Given the description of an element on the screen output the (x, y) to click on. 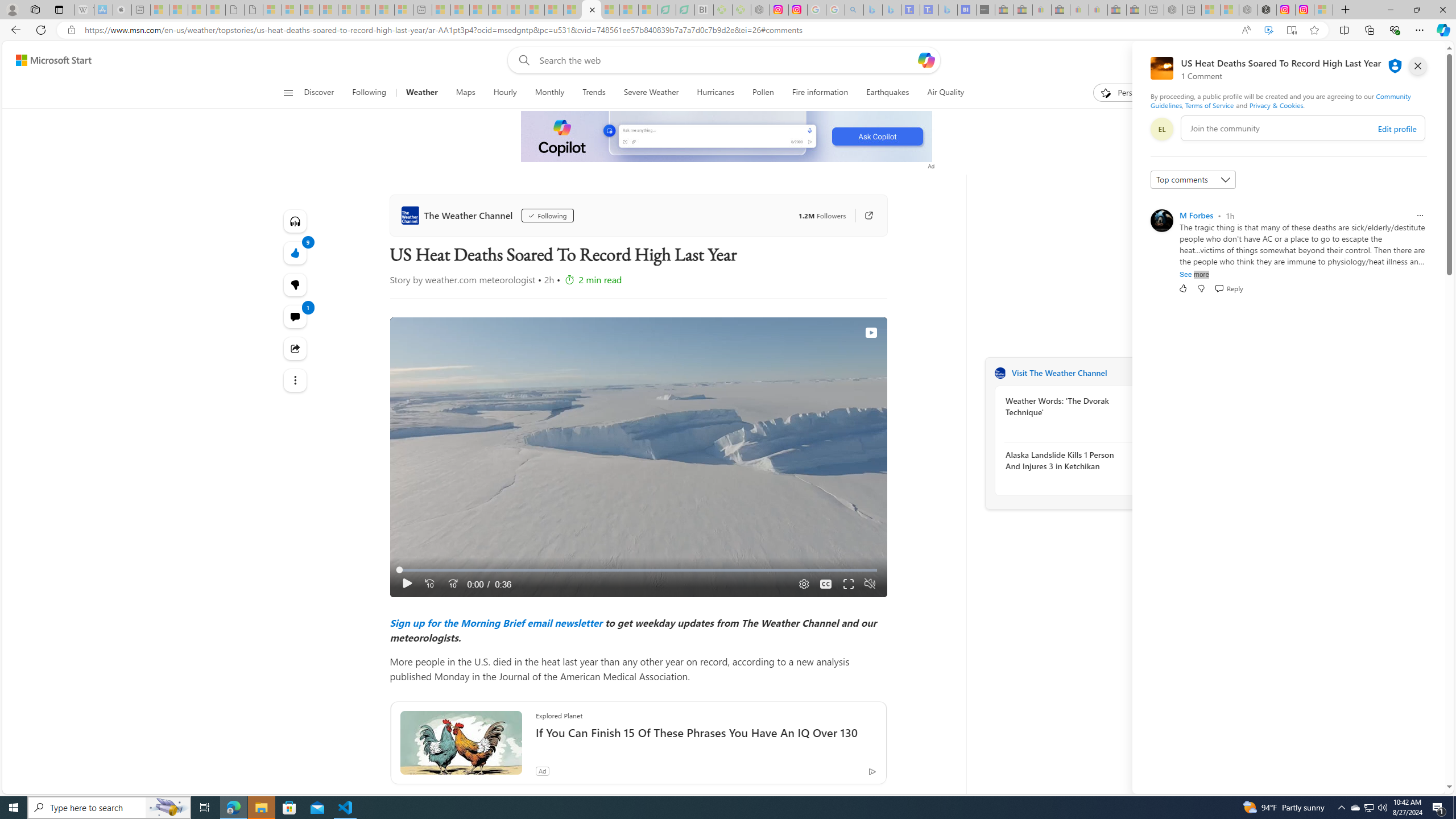
9 Like (295, 252)
Visit The Weather Channel website (1140, 372)
Hourly (504, 92)
Web search (520, 60)
Community Guidelines (1280, 100)
Notifications (1397, 60)
Payments Terms of Use | eBay.com - Sleeping (1098, 9)
Like (1182, 287)
Earthquakes (887, 92)
